Given the description of an element on the screen output the (x, y) to click on. 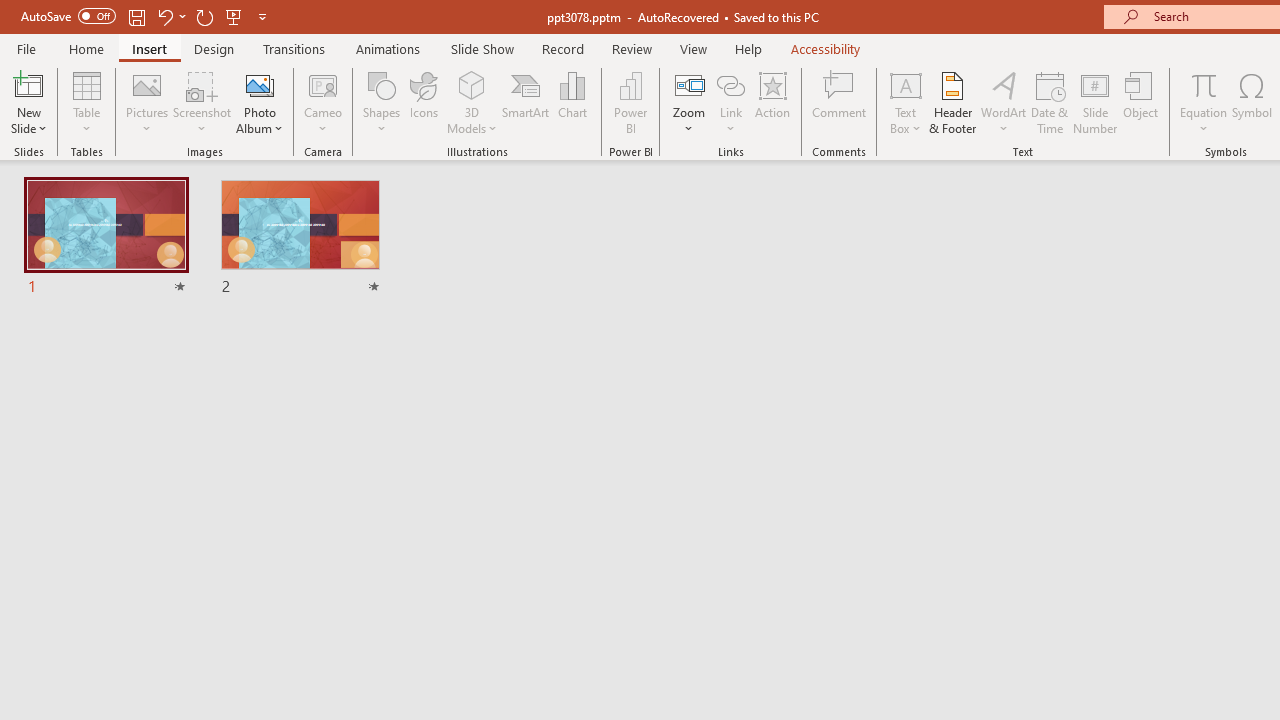
Slide Number (1095, 102)
Icons (424, 102)
Link (731, 102)
Chart... (572, 102)
Power BI (630, 102)
Object... (1141, 102)
